Given the description of an element on the screen output the (x, y) to click on. 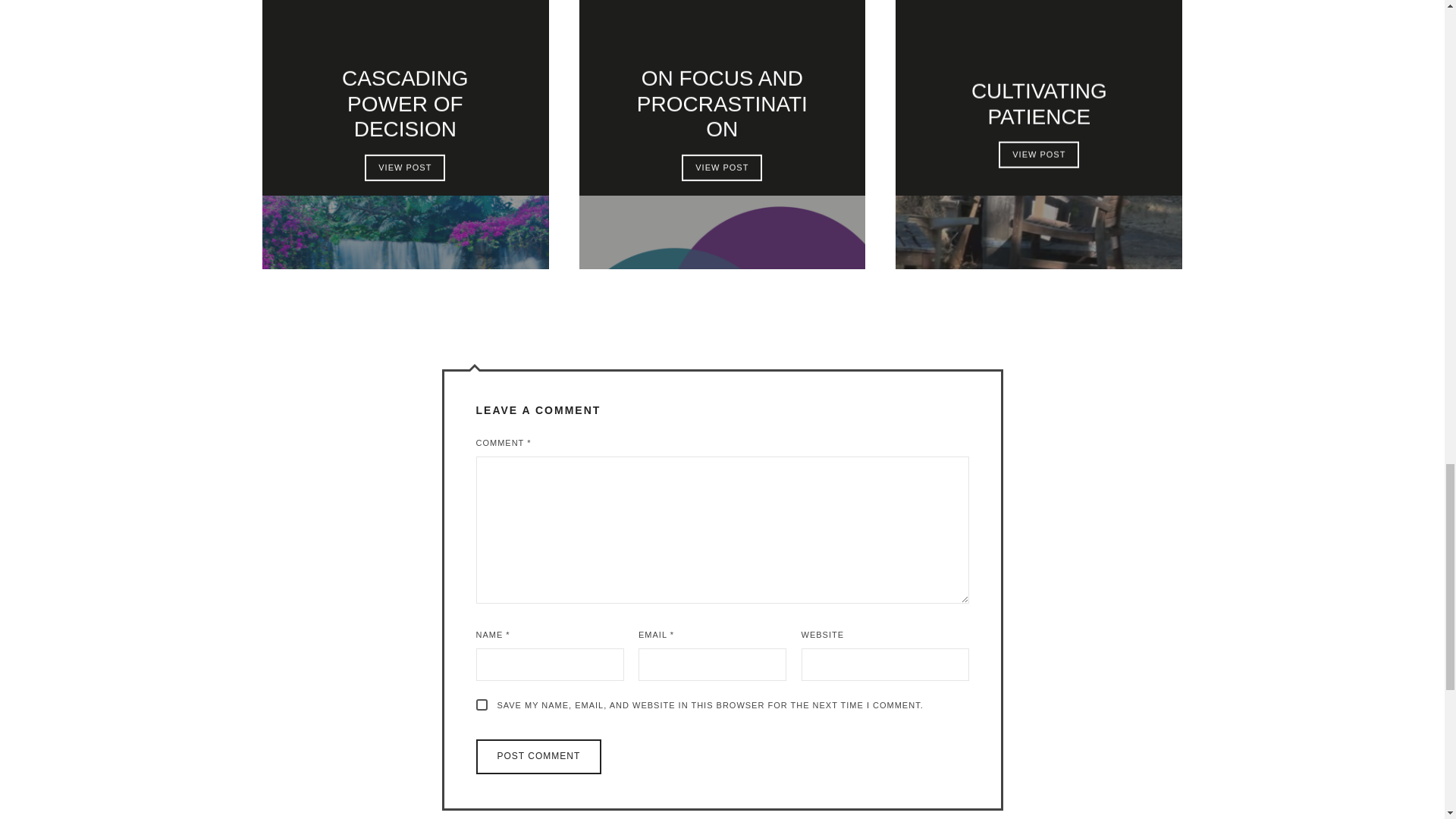
yes (481, 704)
Post Comment (539, 756)
